Given the description of an element on the screen output the (x, y) to click on. 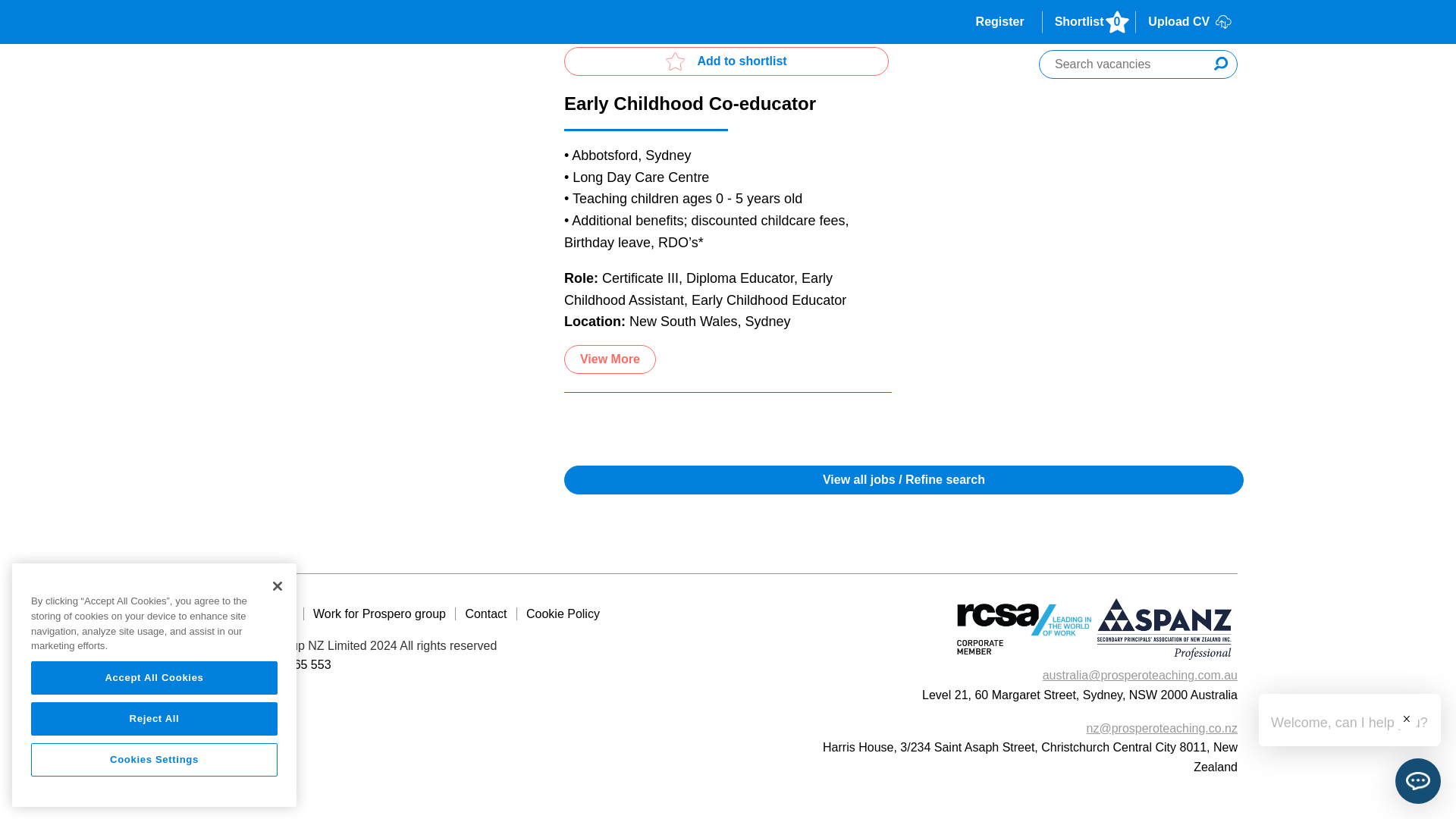
Privacy Policy (258, 613)
Contact (485, 613)
Work for Prospero group (379, 613)
Contact (485, 613)
Cookie Policy (559, 613)
View More (610, 358)
shortlist star (674, 61)
Privacy Policy (258, 613)
Cookie Policy (559, 613)
Work for Prospero group (379, 613)
